Given the description of an element on the screen output the (x, y) to click on. 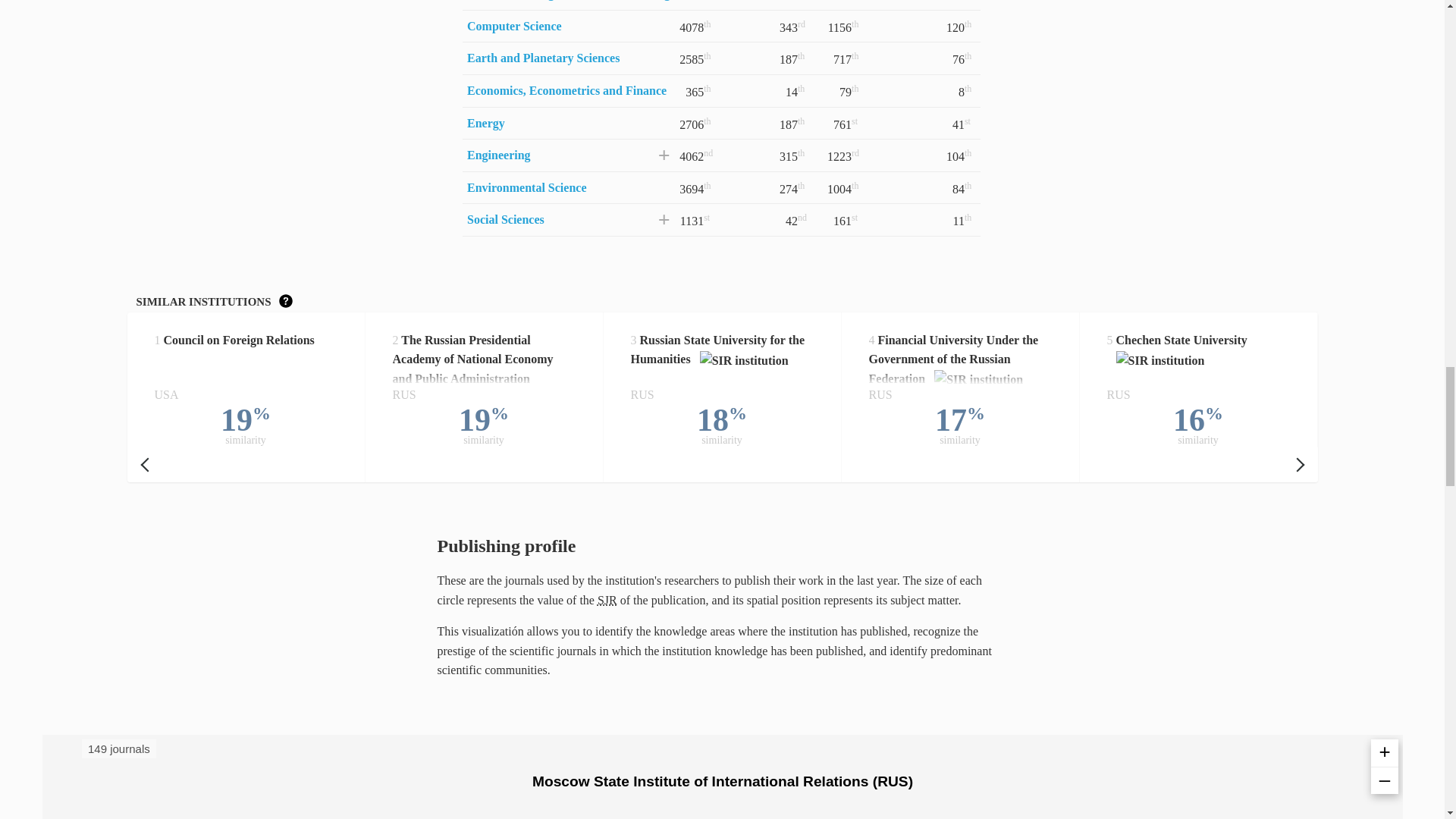
Earth and Planetary Sciences (543, 57)
Ranking - Economics, Econometrics and Finance  (566, 90)
Ranking - Energy  (486, 123)
Economics, Econometrics and Finance (566, 90)
Ranking - Environmental Science  (526, 187)
Ranking - Social Sciences  (505, 219)
Computer Science (514, 25)
Ranking - Computer Science  (514, 25)
Energy (486, 123)
Ranking - Engineering  (499, 154)
